Given the description of an element on the screen output the (x, y) to click on. 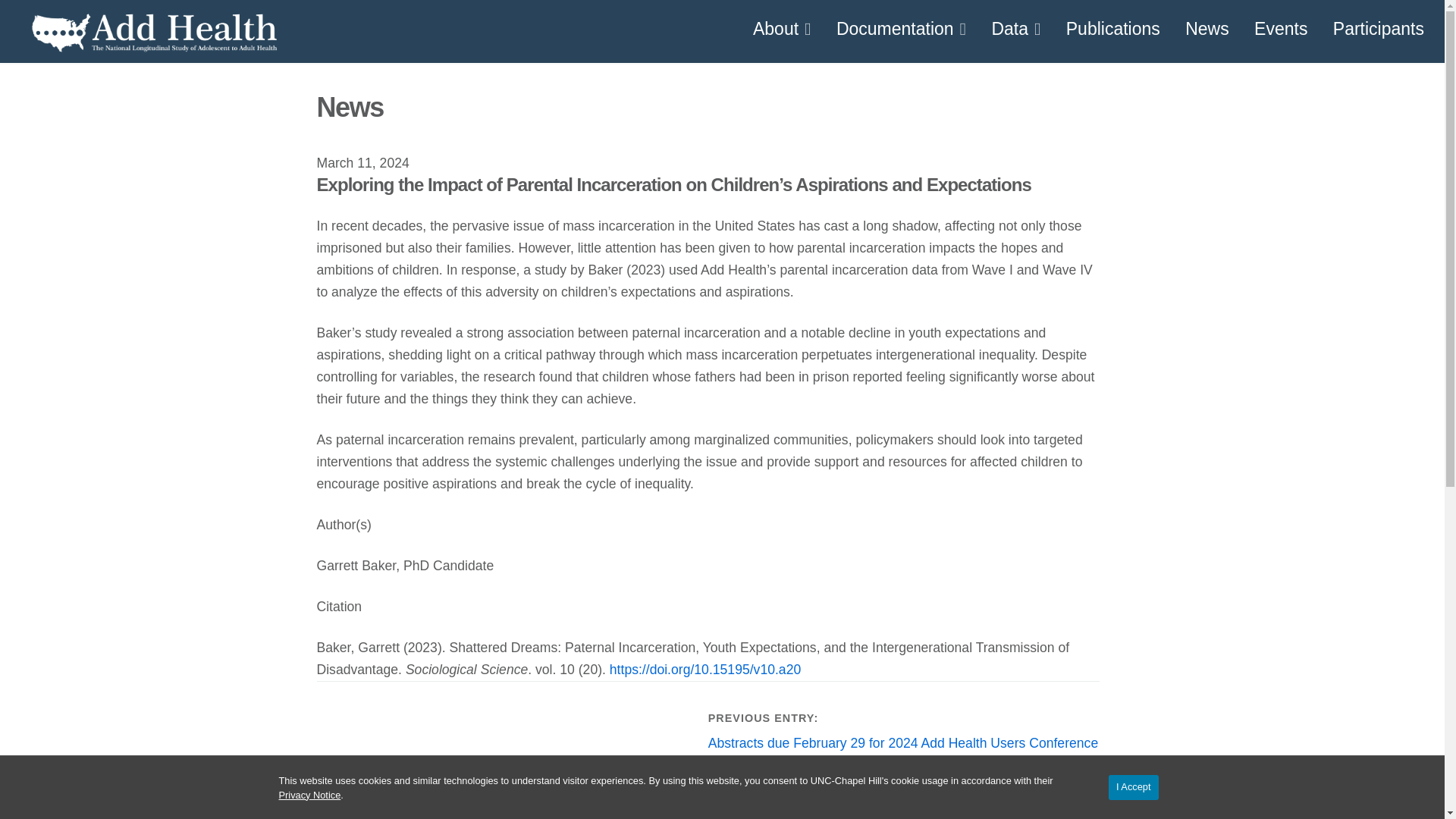
News (1207, 28)
Documentation (901, 28)
I Accept (1133, 787)
Events (1280, 28)
About (782, 28)
Participants (1377, 28)
Privacy Notice (309, 794)
Publications (1113, 28)
Data (1015, 28)
Add Health (58, 80)
